Given the description of an element on the screen output the (x, y) to click on. 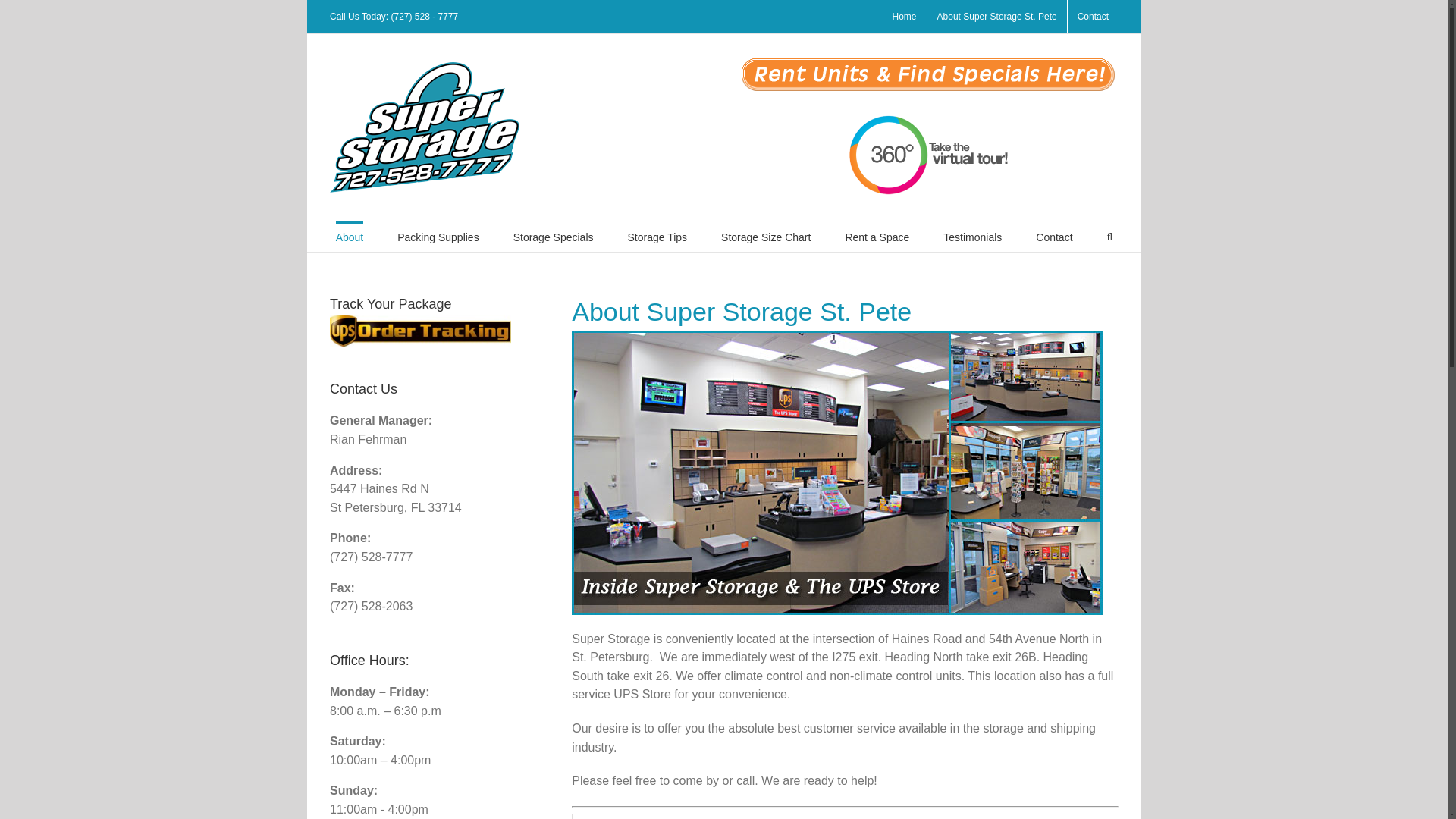
Contact (1053, 236)
Storage Tips (657, 236)
Home (904, 16)
Storage Size Chart (765, 236)
About Super Storage St. Pete (997, 16)
Packing Supplies (438, 236)
Testimonials (972, 236)
Storage Specials (553, 236)
Search (1109, 236)
About (350, 236)
Rent a Space (876, 236)
Contact (1092, 16)
